Given the description of an element on the screen output the (x, y) to click on. 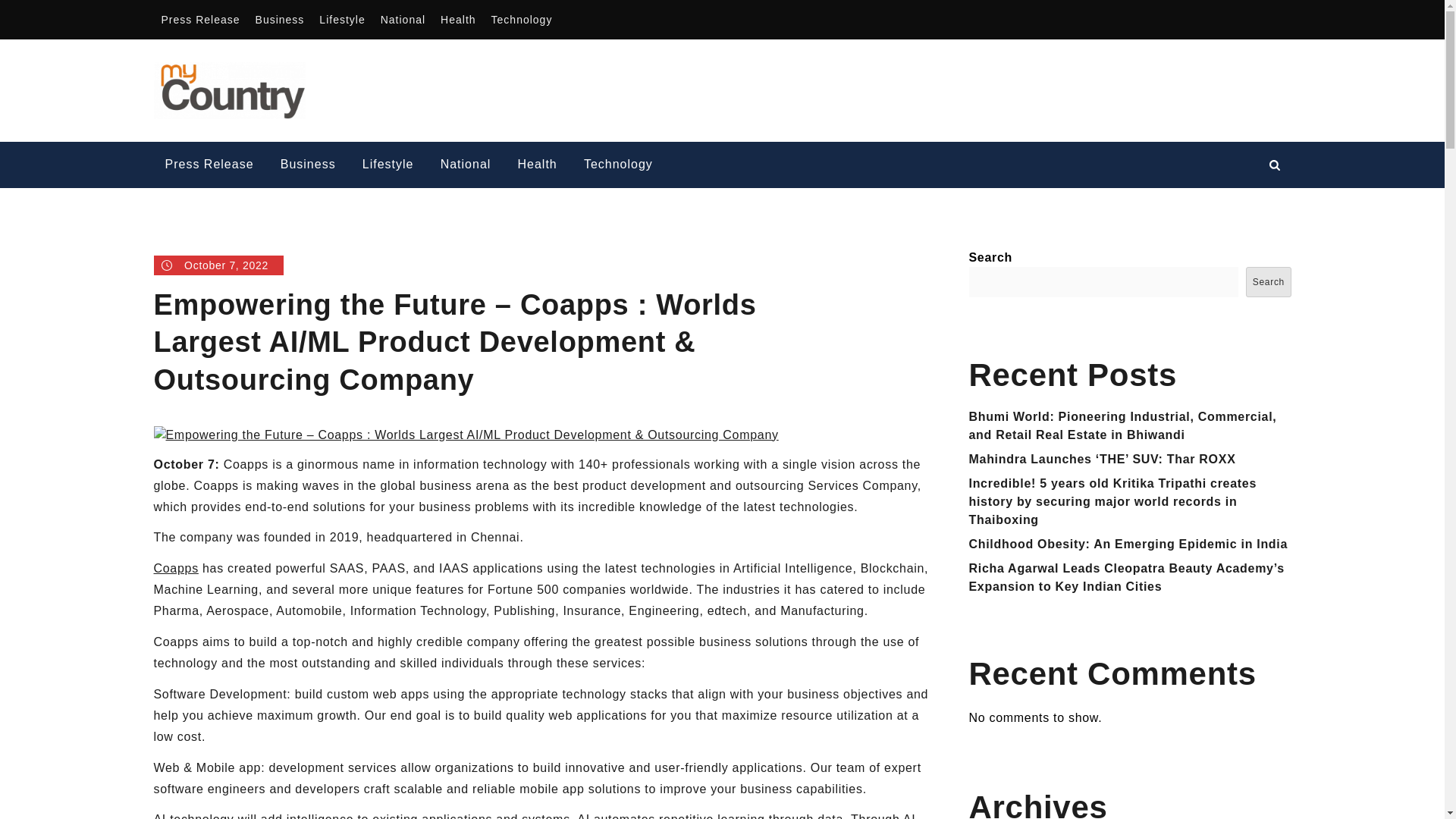
Lifestyle (387, 164)
My Country (381, 75)
Childhood Obesity: An Emerging Epidemic in India (1128, 543)
October 7, 2022 (217, 265)
National (402, 19)
Health (537, 164)
Business (280, 19)
Press Release (208, 164)
Lifestyle (341, 19)
